Given the description of an element on the screen output the (x, y) to click on. 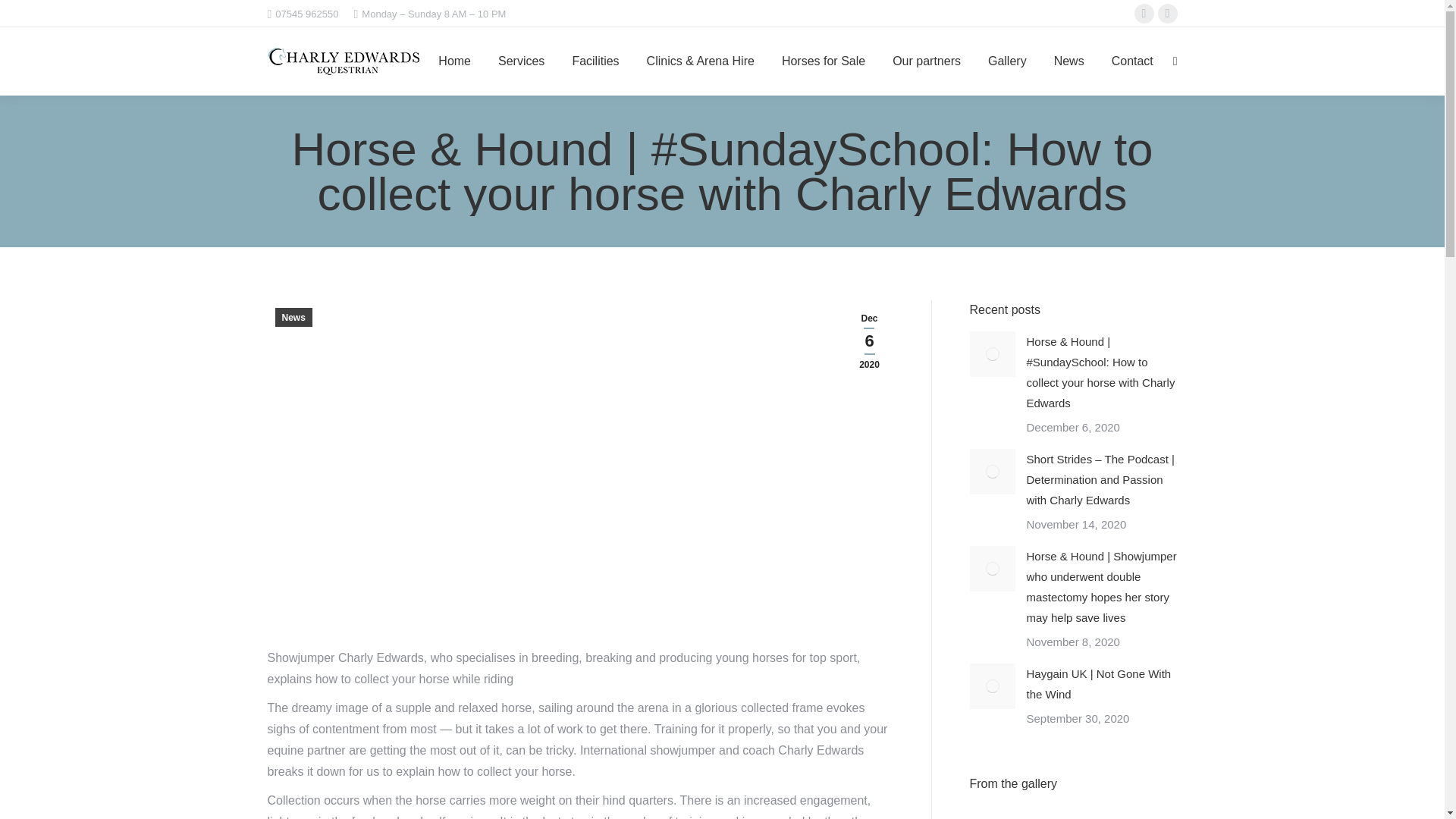
Contact (1132, 60)
Services (521, 60)
Facilities (595, 60)
News (293, 316)
Horses for Sale (822, 60)
Go! (24, 16)
Gallery (1007, 60)
Our partners (926, 60)
Instagram page opens in new window (1166, 13)
Instagram page opens in new window (1166, 13)
Facebook page opens in new window (1144, 13)
Home (454, 60)
Facebook page opens in new window (1144, 13)
